Given the description of an element on the screen output the (x, y) to click on. 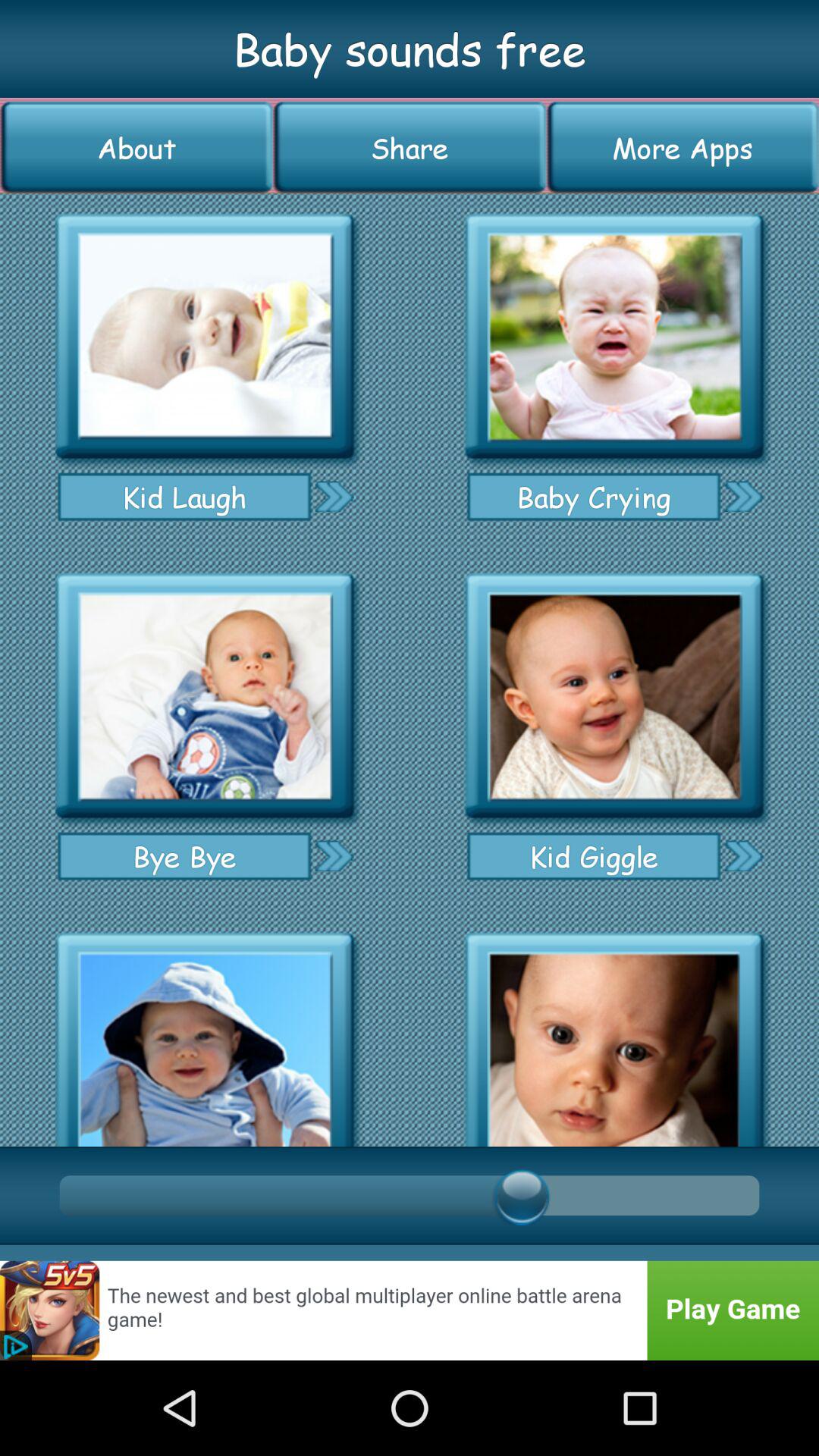
listen to ringtone (613, 696)
